Given the description of an element on the screen output the (x, y) to click on. 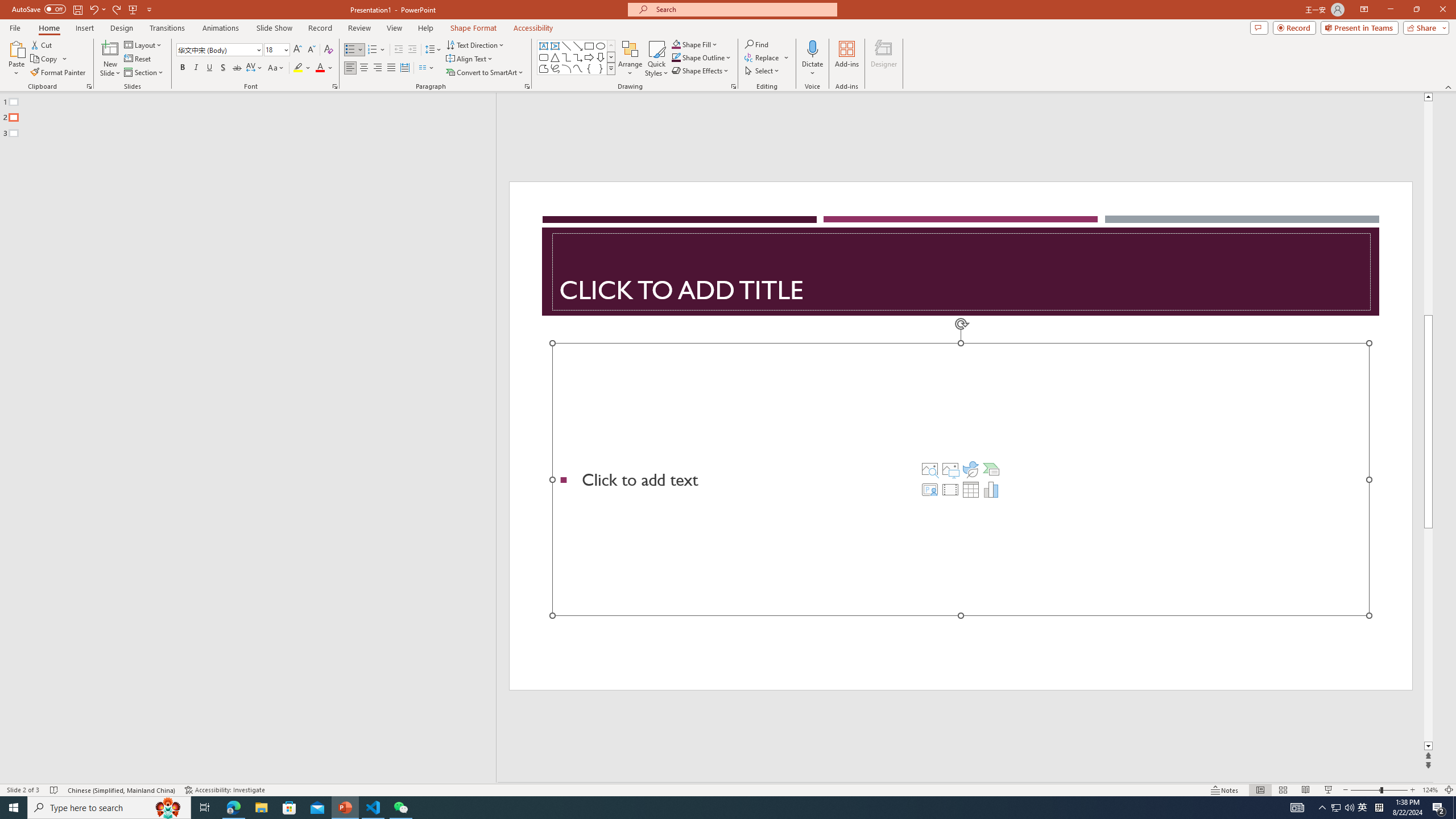
Insert Cameo (929, 489)
Stock Images (929, 469)
